Given the description of an element on the screen output the (x, y) to click on. 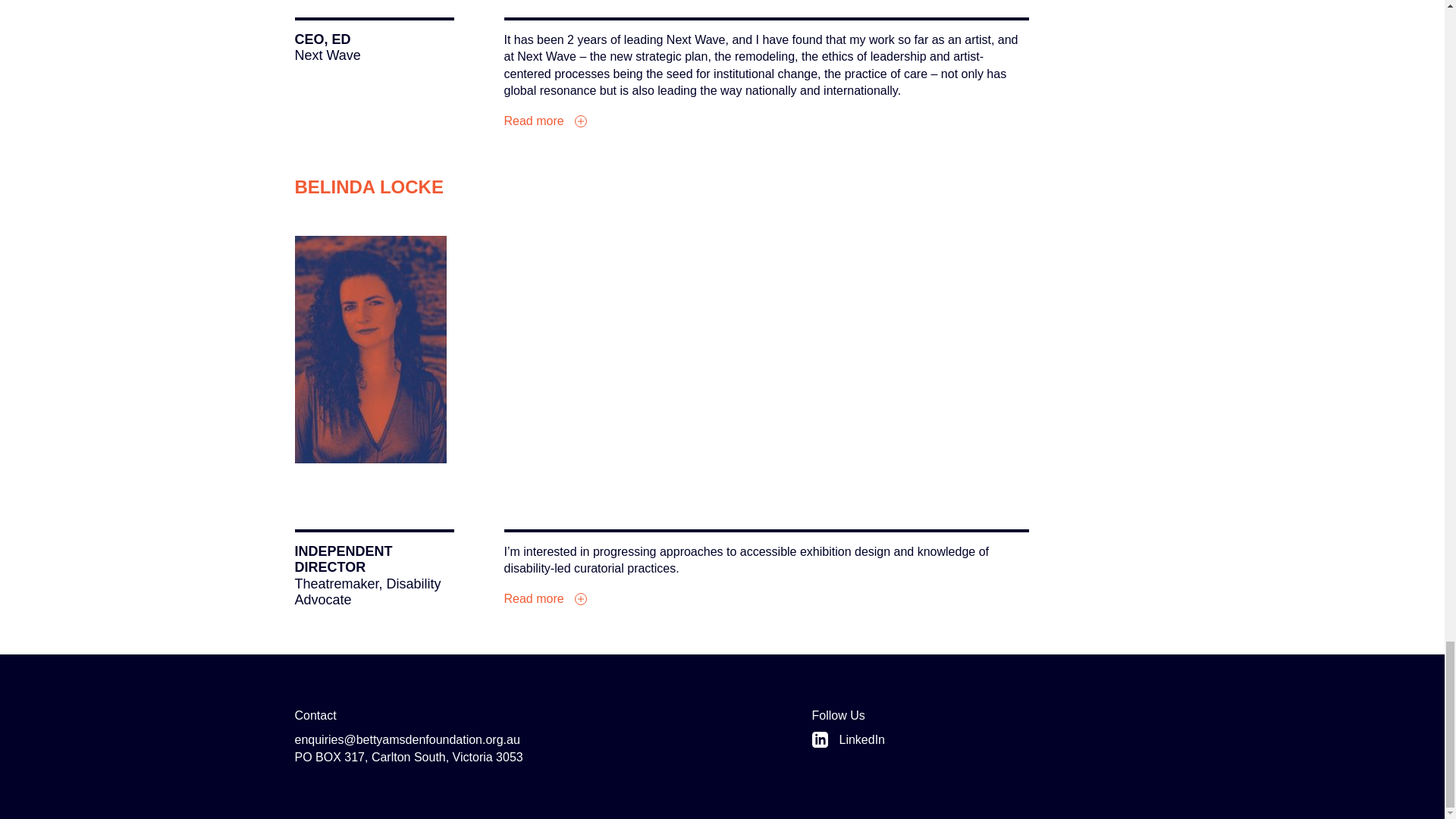
Read more (544, 120)
LinkedIn (980, 739)
Read more (544, 598)
